Given the description of an element on the screen output the (x, y) to click on. 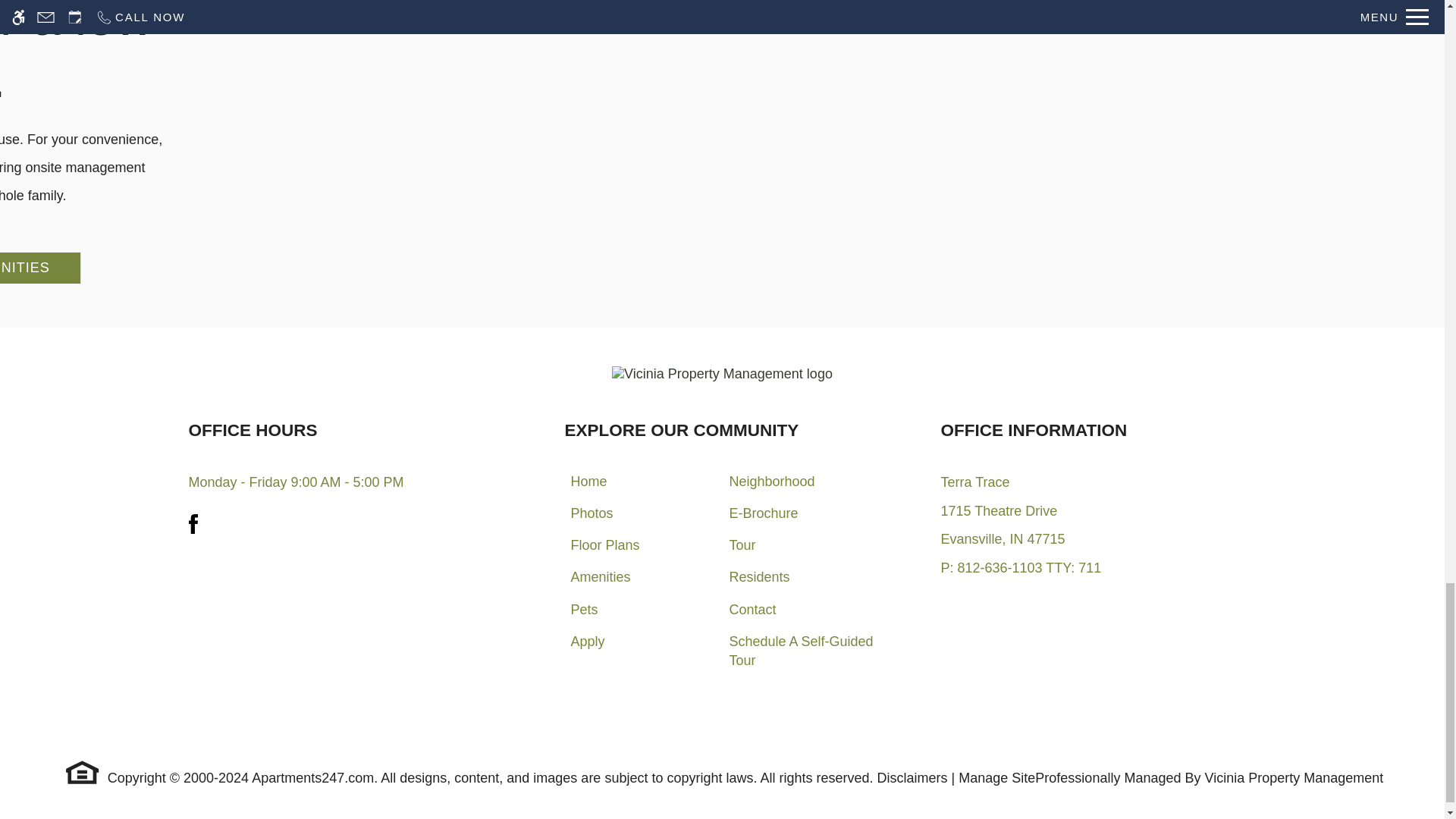
Manage Site (996, 777)
VIEW AMENITIES (40, 267)
Home (588, 484)
Vicinia Property Management (1293, 777)
